Given the description of an element on the screen output the (x, y) to click on. 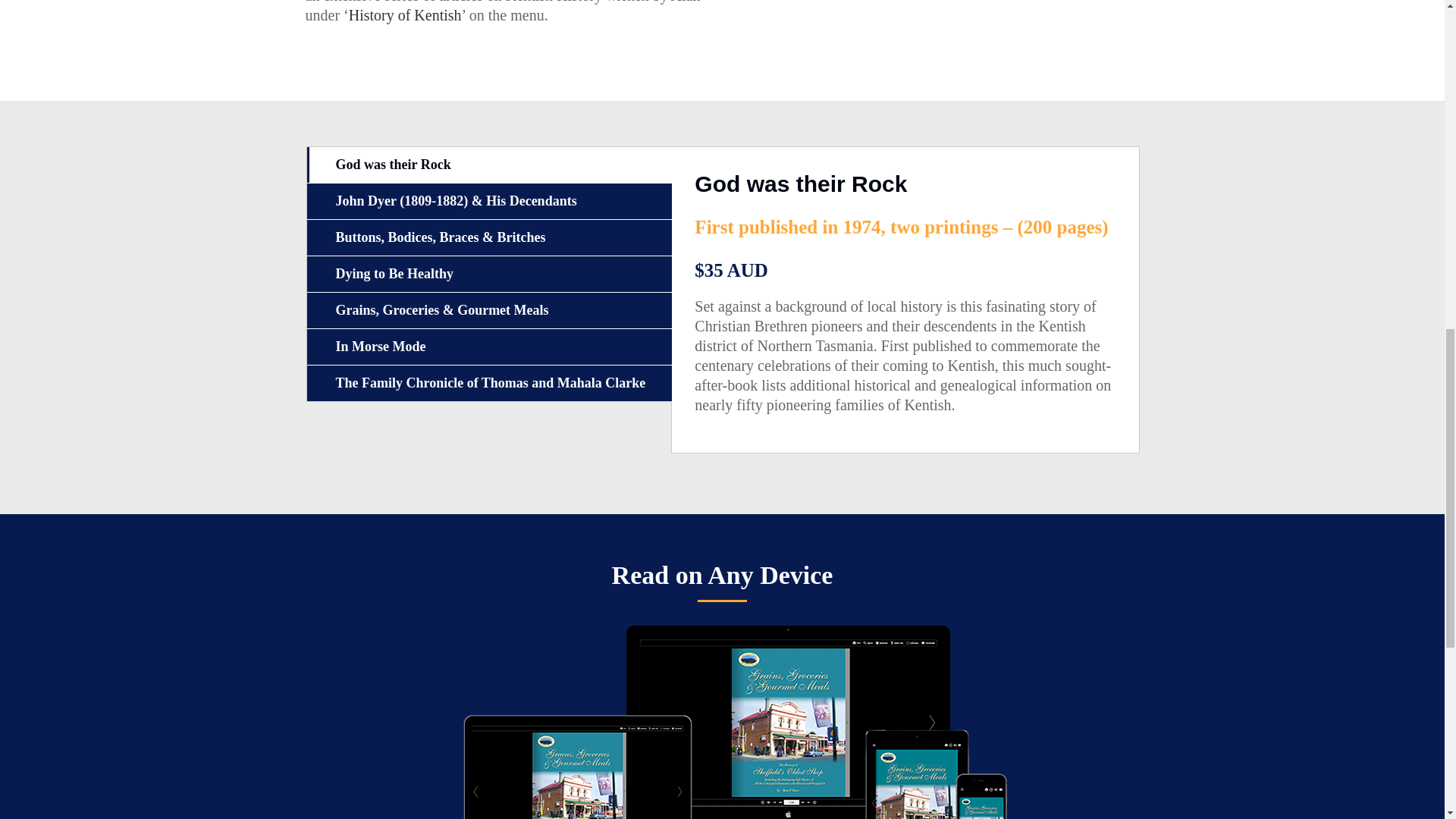
Dying to Be Healthy (488, 273)
In Morse Mode (488, 346)
God was their Rock (488, 164)
eBook-Devices (722, 722)
History of Kentish (405, 13)
The Family Chronicle of Thomas and Mahala Clarke (488, 383)
